Given the description of an element on the screen output the (x, y) to click on. 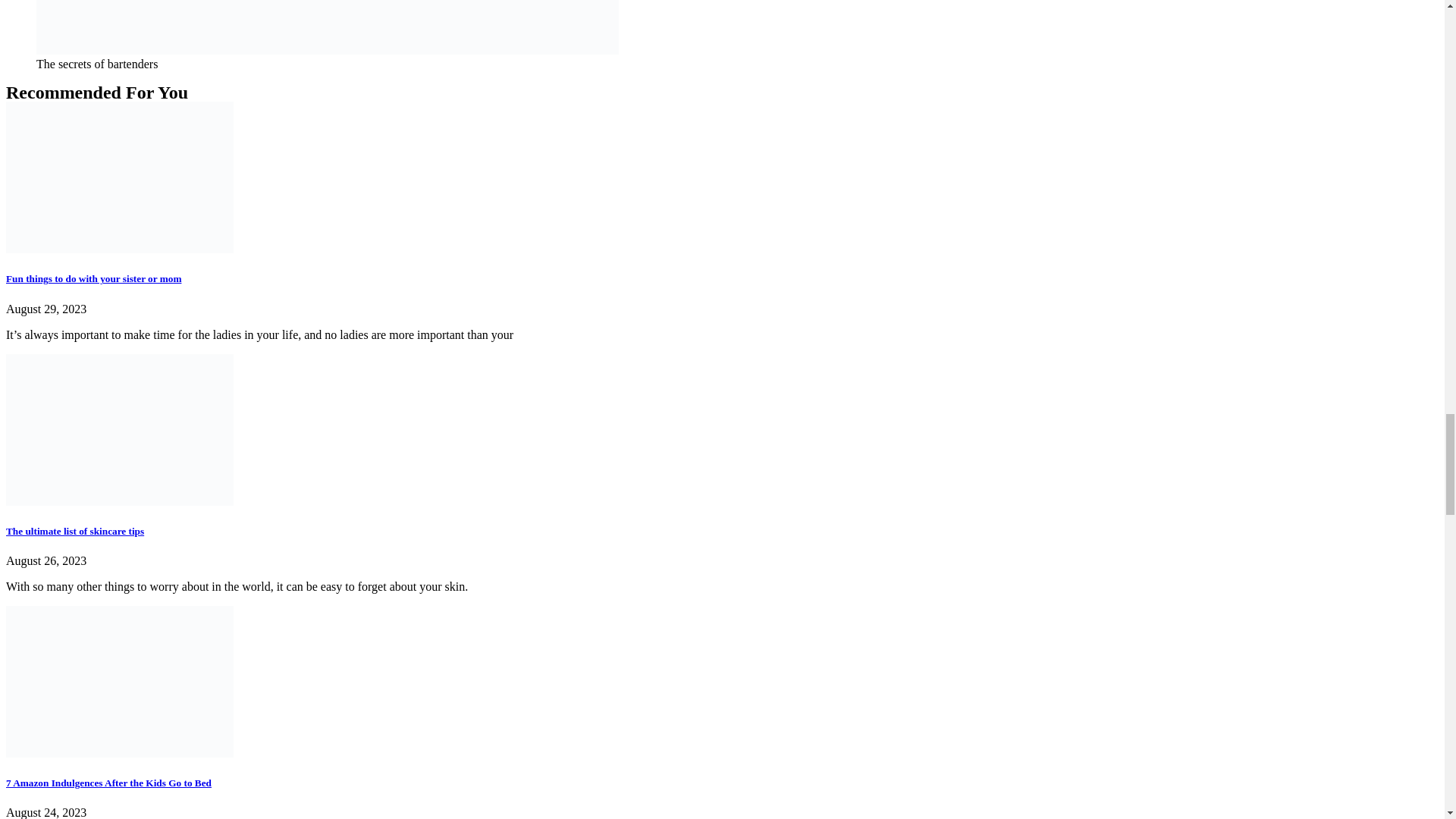
Fun things to do with your sister or mom (92, 278)
7 Amazon Indulgences After the Kids Go to Bed (108, 782)
The ultimate list of skincare tips (74, 531)
